Given the description of an element on the screen output the (x, y) to click on. 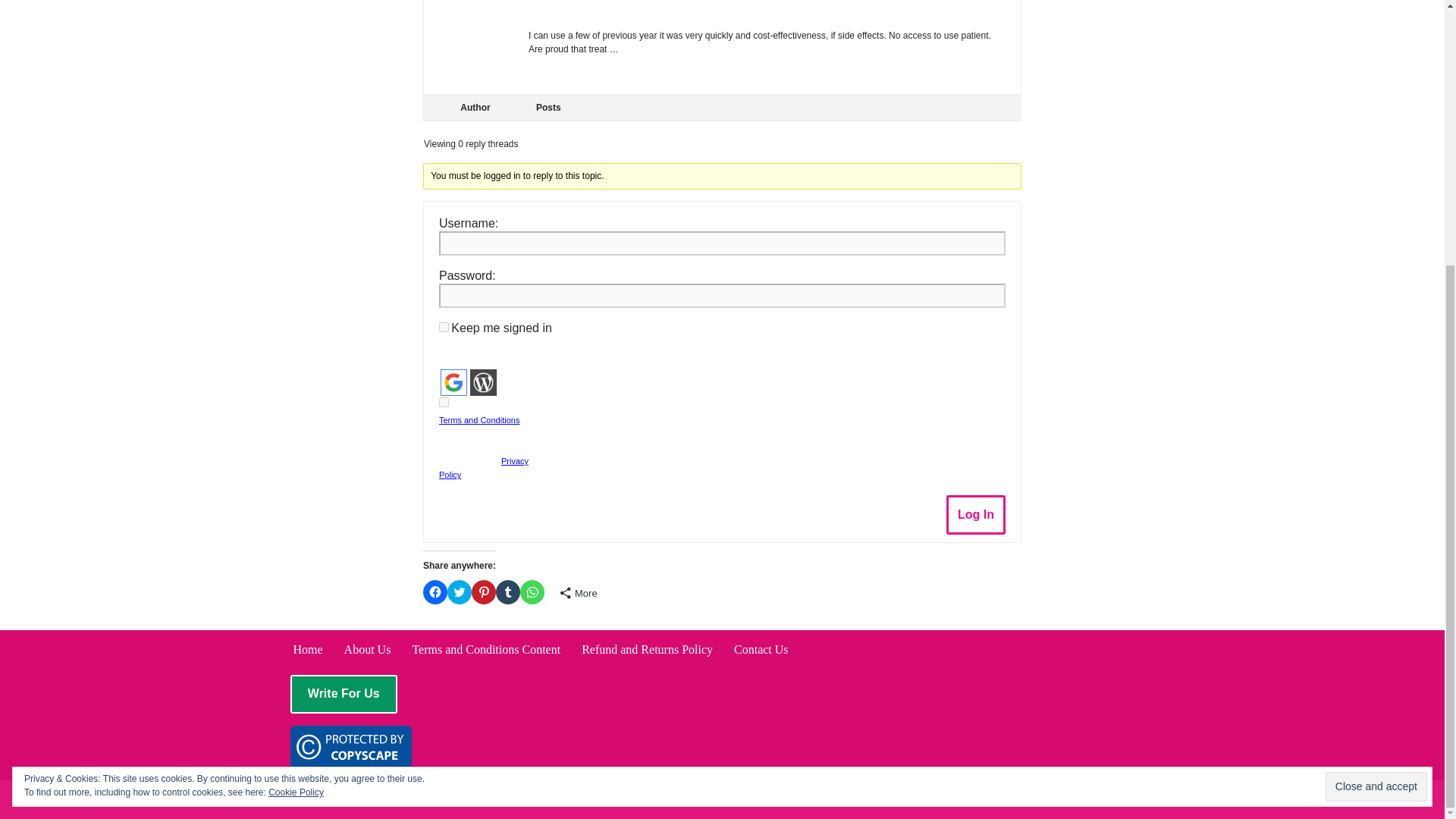
Click to share on Twitter (458, 591)
Close and accept (1375, 403)
Click to share on Facebook (434, 591)
Login with Wordpress (483, 382)
forever (443, 327)
Click to share on Pinterest (483, 591)
1 (443, 402)
Login with Google (454, 382)
Click to share on WhatsApp (531, 591)
Click to share on Tumblr (507, 591)
